Given the description of an element on the screen output the (x, y) to click on. 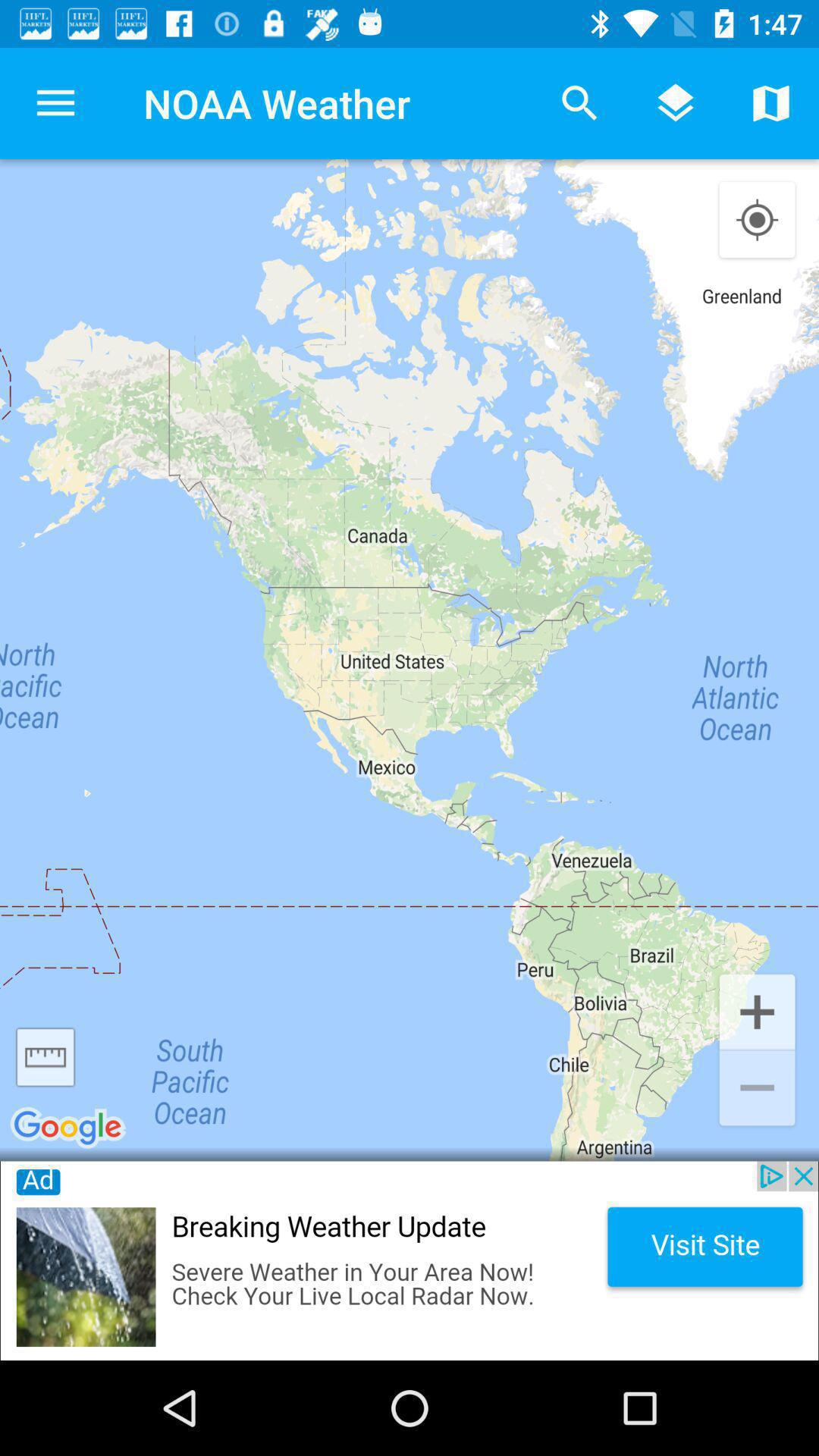
change page scale (45, 1057)
